Given the description of an element on the screen output the (x, y) to click on. 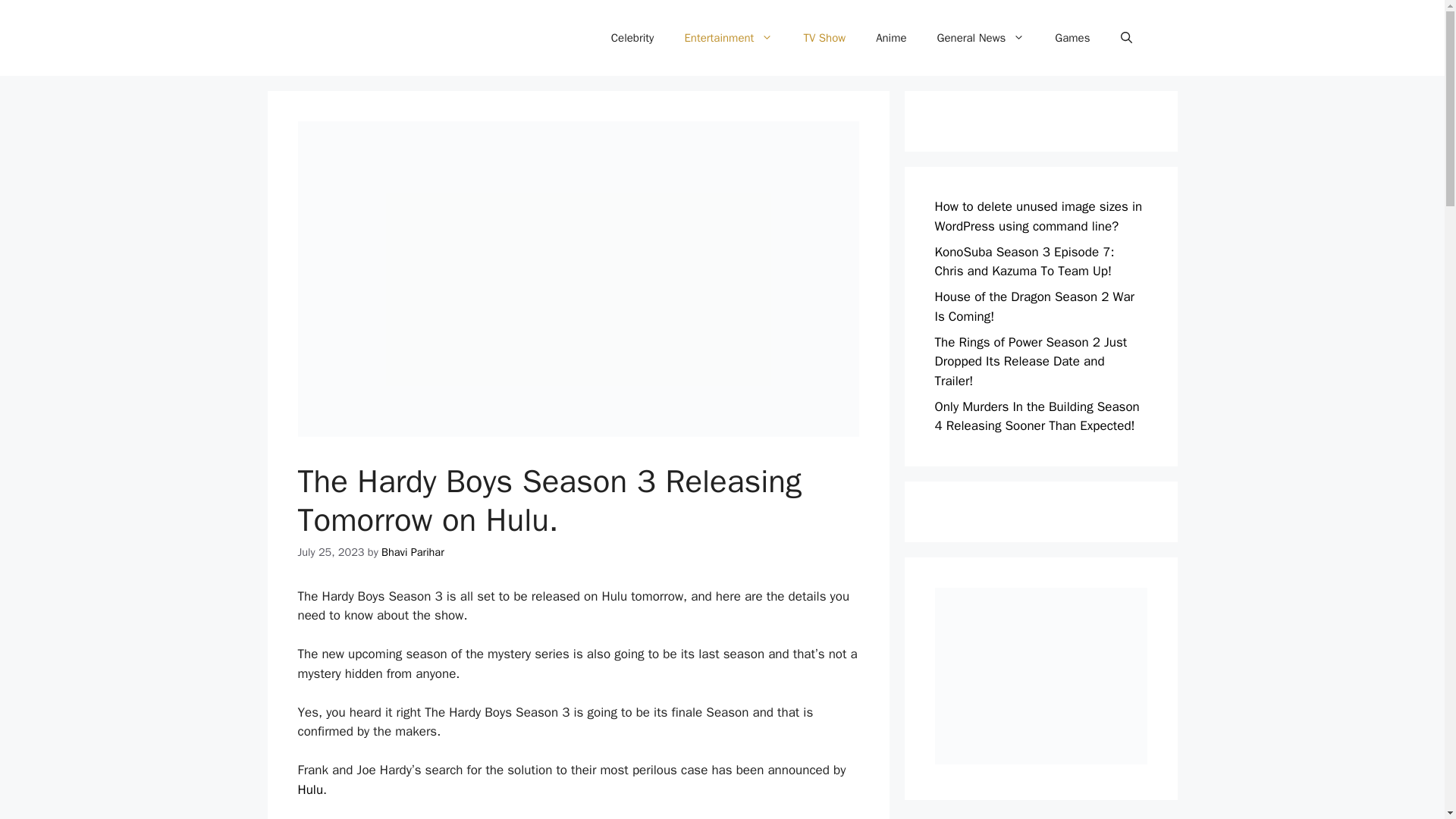
House of the Dragon Season 2 War Is Coming! (1034, 306)
TV Show (823, 37)
Bhavi Parihar (412, 551)
Games (1072, 37)
Anime (890, 37)
Celebrity (632, 37)
Entertainment (727, 37)
KonoSuba Season 3 Episode 7: Chris and Kazuma To Team Up! (1023, 262)
